Given the description of an element on the screen output the (x, y) to click on. 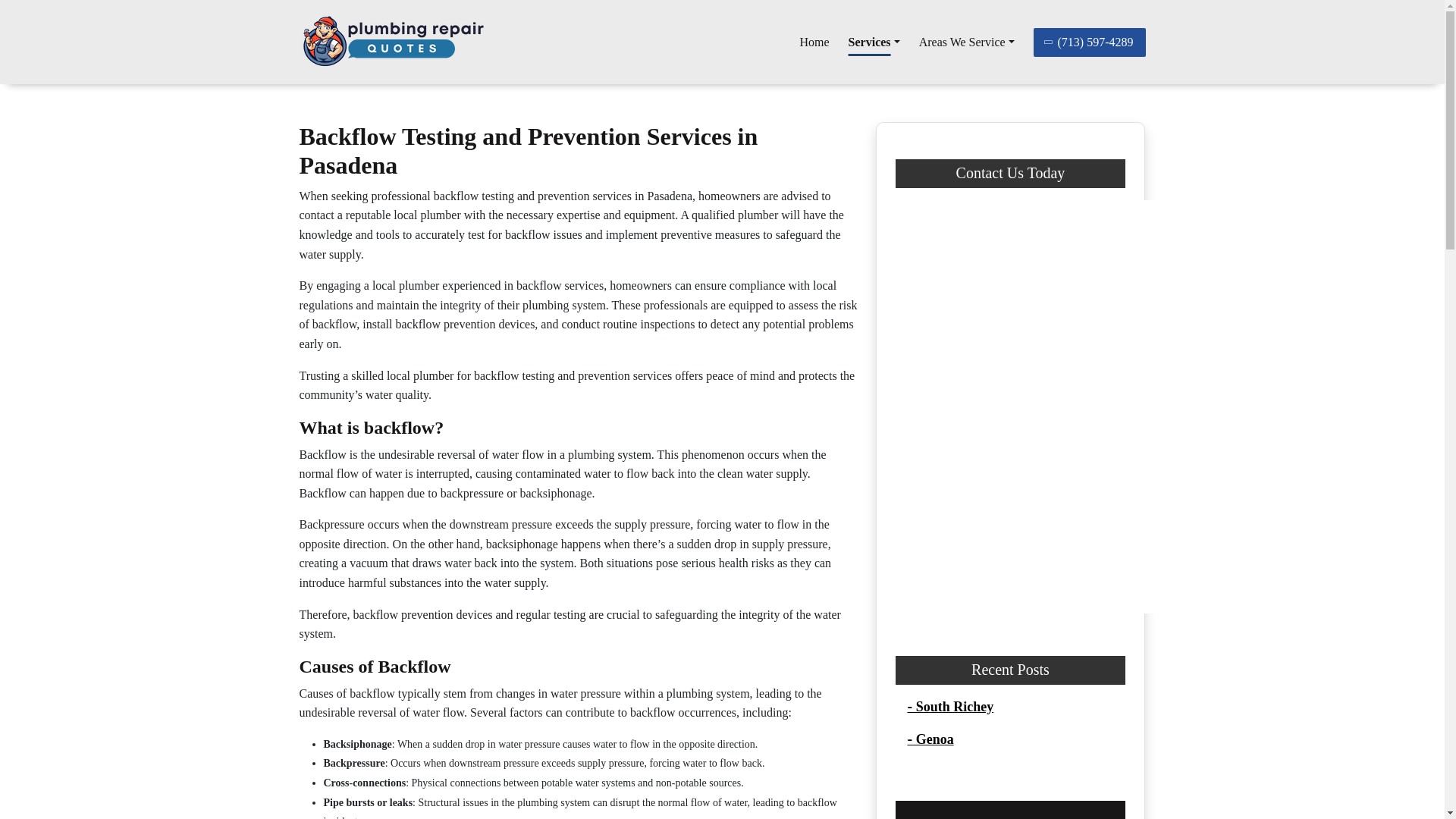
Areas We Service (966, 42)
Services (873, 42)
Areas We Service (966, 42)
Services (873, 42)
Home (813, 42)
- Genoa (930, 739)
- South Richey (949, 706)
Home (813, 42)
